Given the description of an element on the screen output the (x, y) to click on. 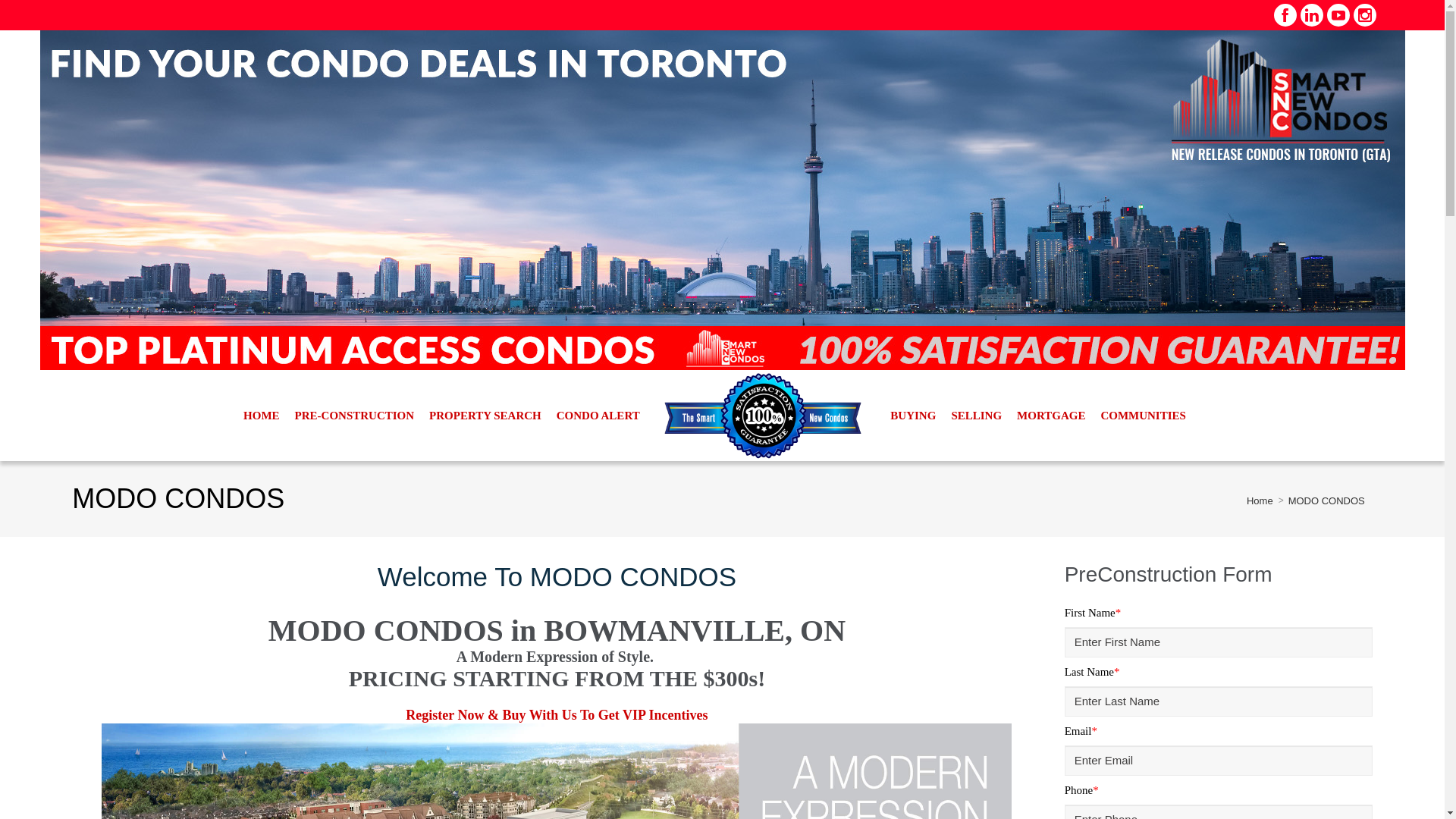
Instagram (1364, 15)
Youtube (1337, 15)
Facebook (1285, 15)
Pre-Construction (354, 415)
PRE-CONSTRUCTION (354, 415)
Linkedin (1311, 15)
